Given the description of an element on the screen output the (x, y) to click on. 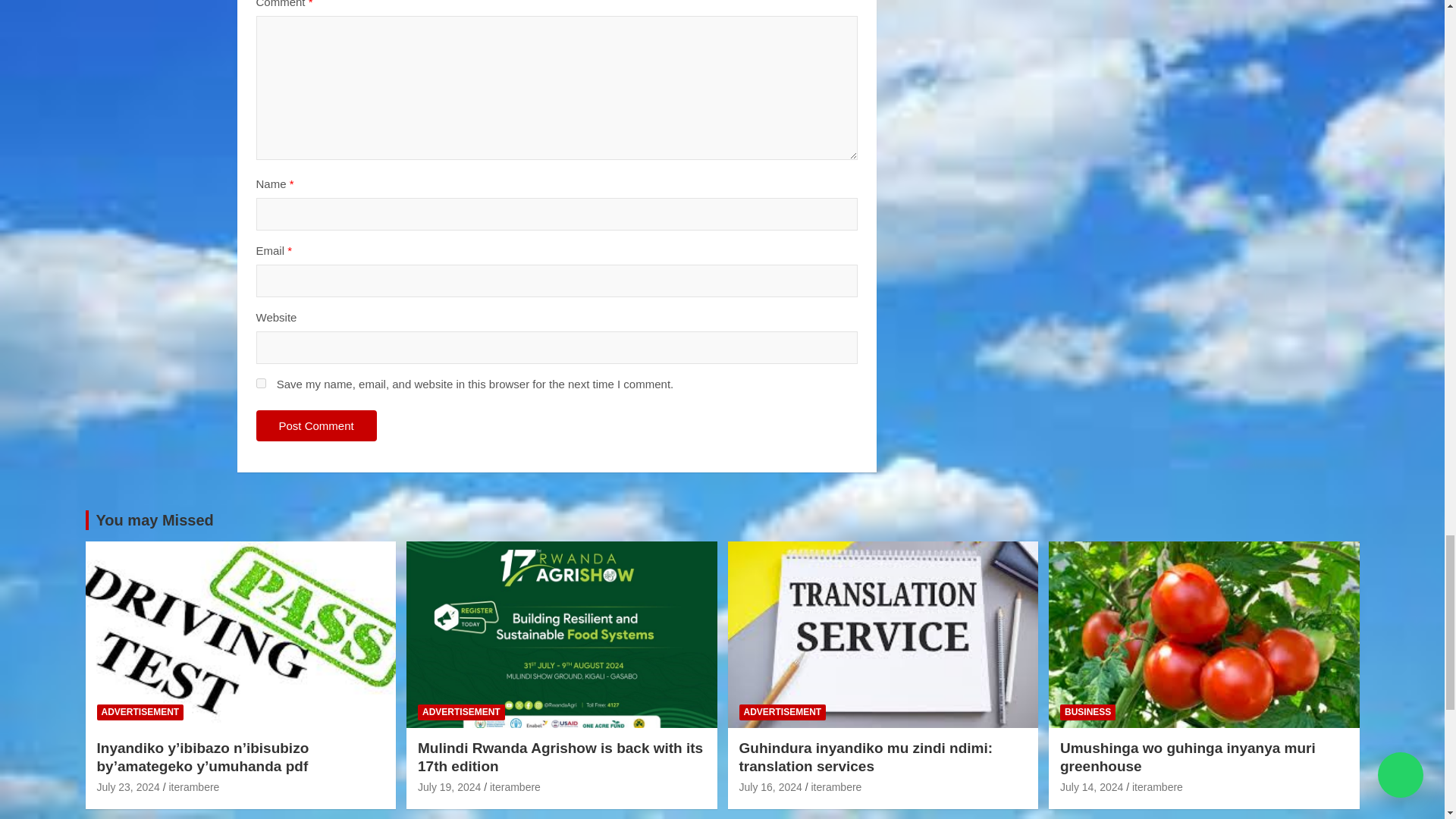
yes (261, 383)
Post Comment (316, 425)
